Given the description of an element on the screen output the (x, y) to click on. 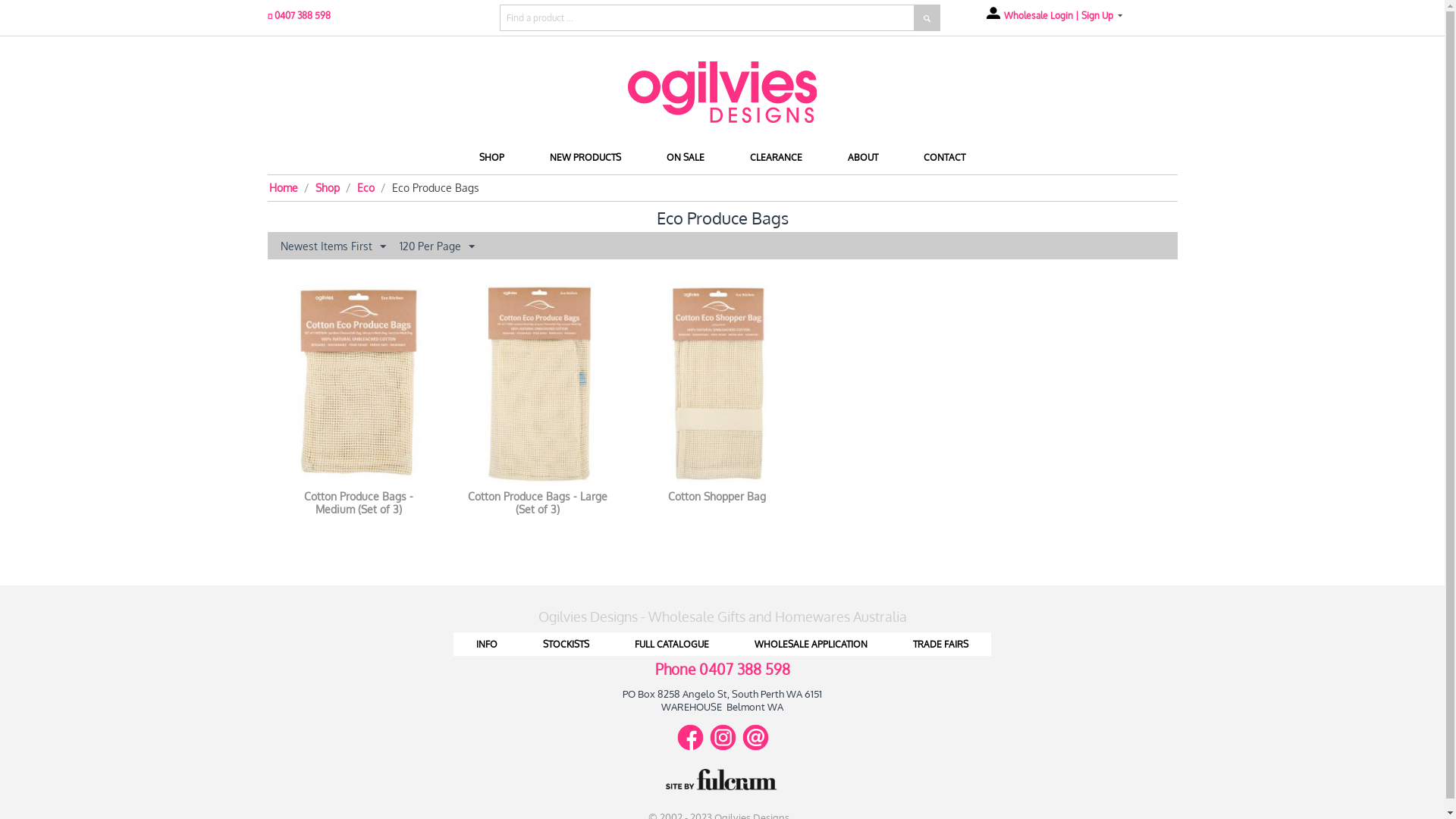
Site by Fulcrum Element type: hover (721, 779)
Phone 0407 388 598 Element type: text (722, 671)
120 Per Page Element type: text (437, 245)
FULL CATALOGUE Element type: text (671, 643)
ON SALE Element type: text (685, 157)
CLEARANCE Element type: text (776, 157)
Search Element type: hover (926, 17)
Cotton Produce Bags - Large (Set of 3) Element type: text (537, 503)
Cotton Produce Bags - Medium (Set of 3) Element type: text (358, 503)
Home Element type: text (282, 187)
Eco Element type: text (364, 187)
CONTACT Element type: text (944, 157)
NEW PRODUCTS Element type: text (585, 157)
Newest Items First Element type: text (332, 245)
ABOUT Element type: text (862, 157)
Cotton Shopper Bag Element type: text (716, 496)
SHOP Element type: text (491, 157)
INFO Element type: text (486, 643)
Wholesale Login | Sign Up Element type: text (1053, 15)
TRADE FAIRS Element type: text (940, 643)
Shop Element type: text (327, 187)
Home Element type: hover (721, 91)
WHOLESALE APPLICATION Element type: text (810, 643)
STOCKISTS Element type: text (565, 643)
Find a product ... Element type: hover (708, 17)
